Given the description of an element on the screen output the (x, y) to click on. 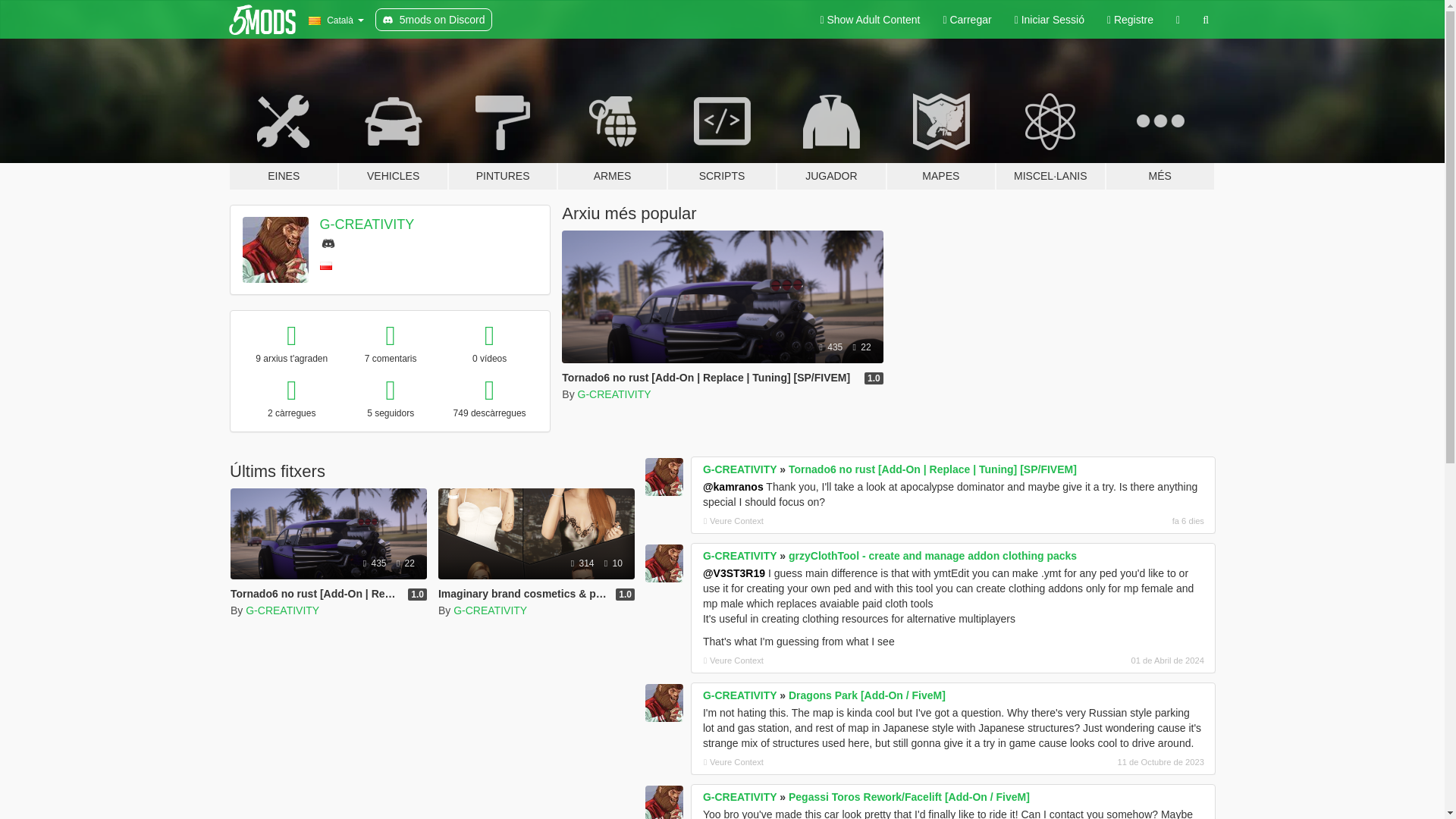
1.0 (416, 594)
Dark mode (1177, 19)
Light mode (869, 19)
5mods on Discord (433, 19)
G-CREATIVITY (614, 394)
1.0 (873, 378)
Discord Server (328, 243)
22 Agradan (861, 347)
Show Adult Content (869, 19)
22 Agradan (405, 562)
Carregar (967, 19)
G-CREATIVITY (282, 610)
Registre (1130, 19)
